Given the description of an element on the screen output the (x, y) to click on. 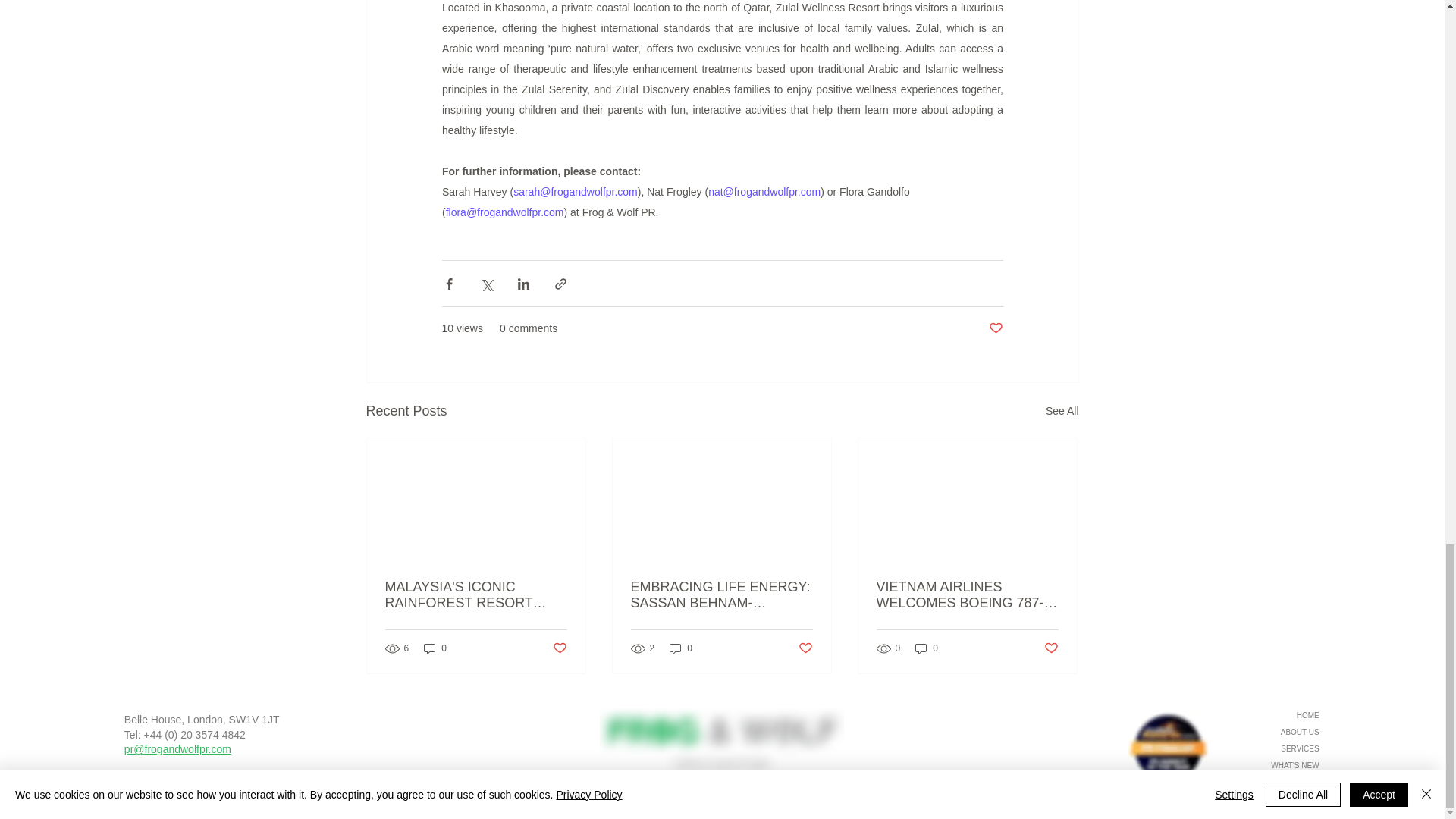
HOME (1266, 715)
See All (1061, 411)
0 (435, 648)
0 (681, 648)
Post not marked as liked (1050, 647)
ABOUT US (1266, 732)
Post not marked as liked (995, 328)
Post not marked as liked (804, 647)
Post not marked as liked (558, 647)
